Given the description of an element on the screen output the (x, y) to click on. 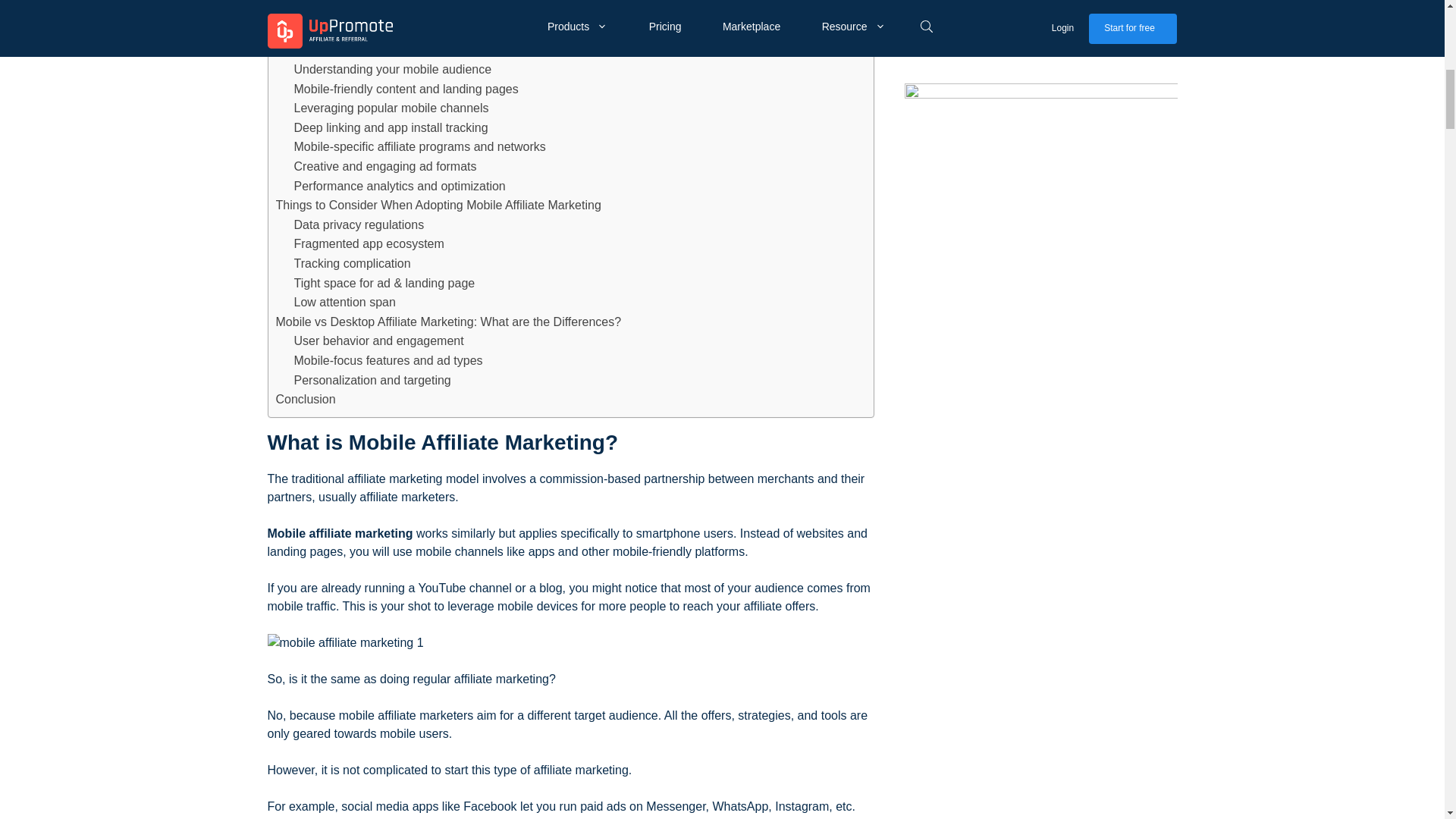
Critical Strategies for Mobile Affiliate Marketing Success (425, 49)
Understanding your mobile audience (393, 69)
Social ads (322, 30)
Understanding your mobile audience (393, 69)
Deep linking and app install tracking (390, 127)
Mobile-friendly content and landing pages (406, 89)
Leveraging popular mobile channels (391, 107)
Mobile-friendly content and landing pages (406, 89)
Social ads (322, 30)
In-app ads (323, 11)
Critical Strategies for Mobile Affiliate Marketing Success (425, 49)
In-app ads (323, 11)
